Given the description of an element on the screen output the (x, y) to click on. 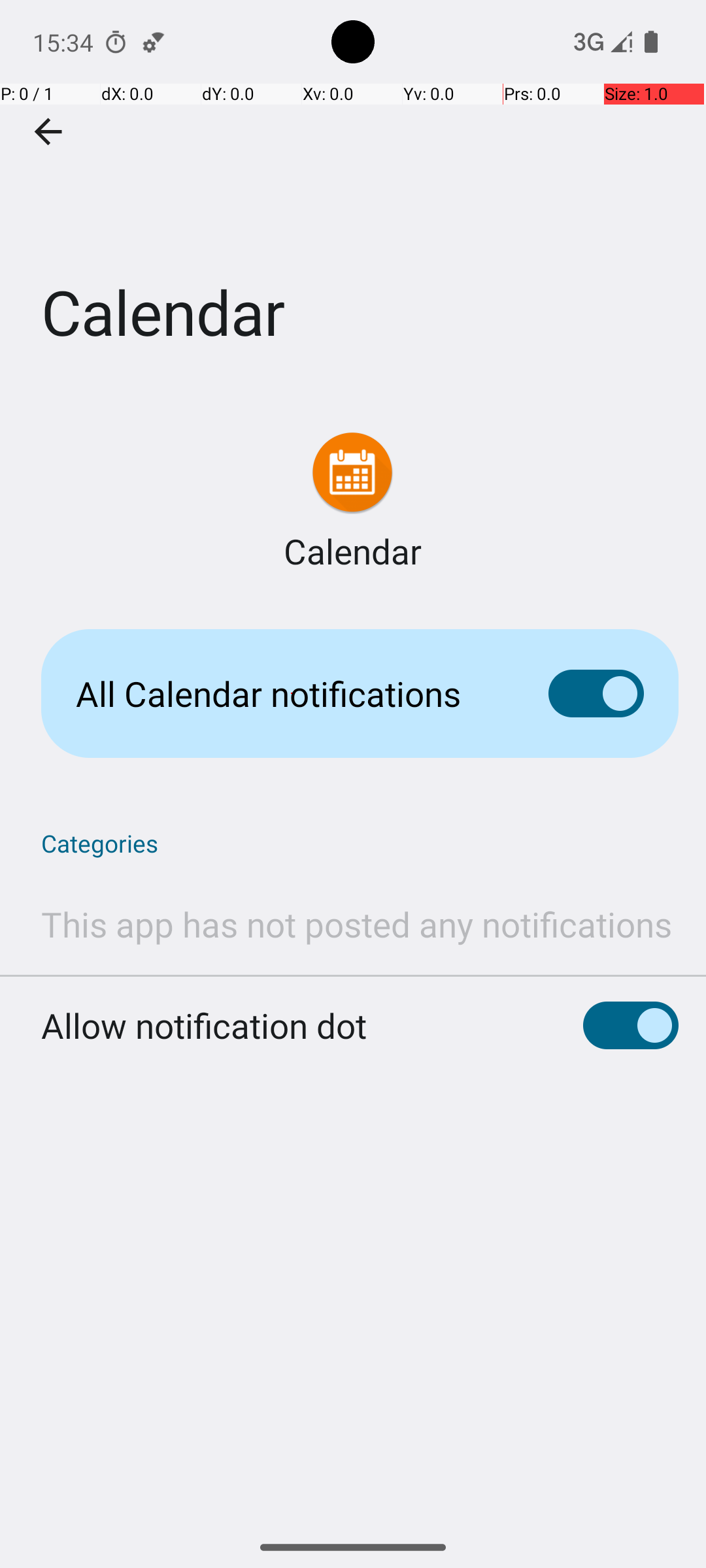
This app has not posted any notifications Element type: android.widget.TextView (356, 923)
